Given the description of an element on the screen output the (x, y) to click on. 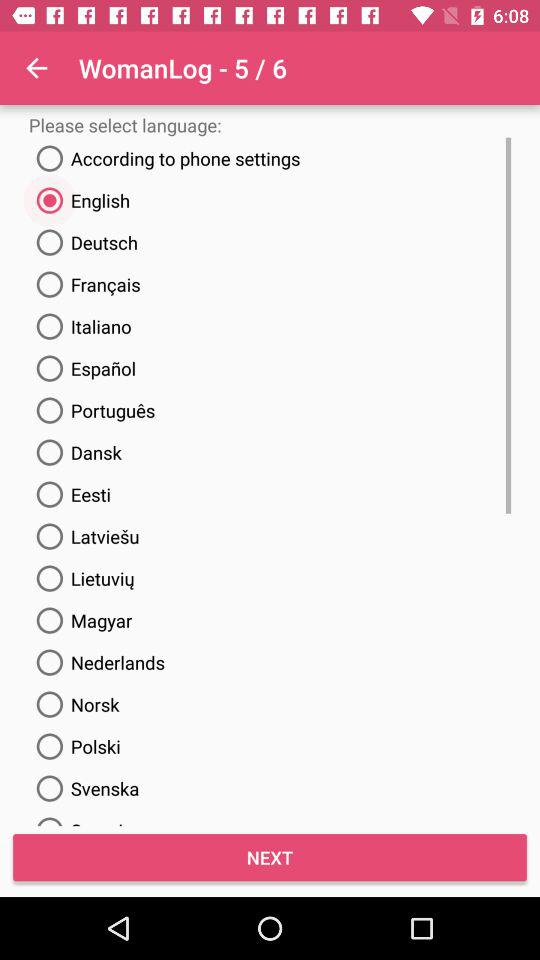
select the option deutsch on the web page (83, 242)
select the last but one radio button (74, 746)
select the option english on the web page (79, 200)
select on eesti (70, 495)
click on latviesu (84, 536)
select the button above magyar (82, 578)
